Given the description of an element on the screen output the (x, y) to click on. 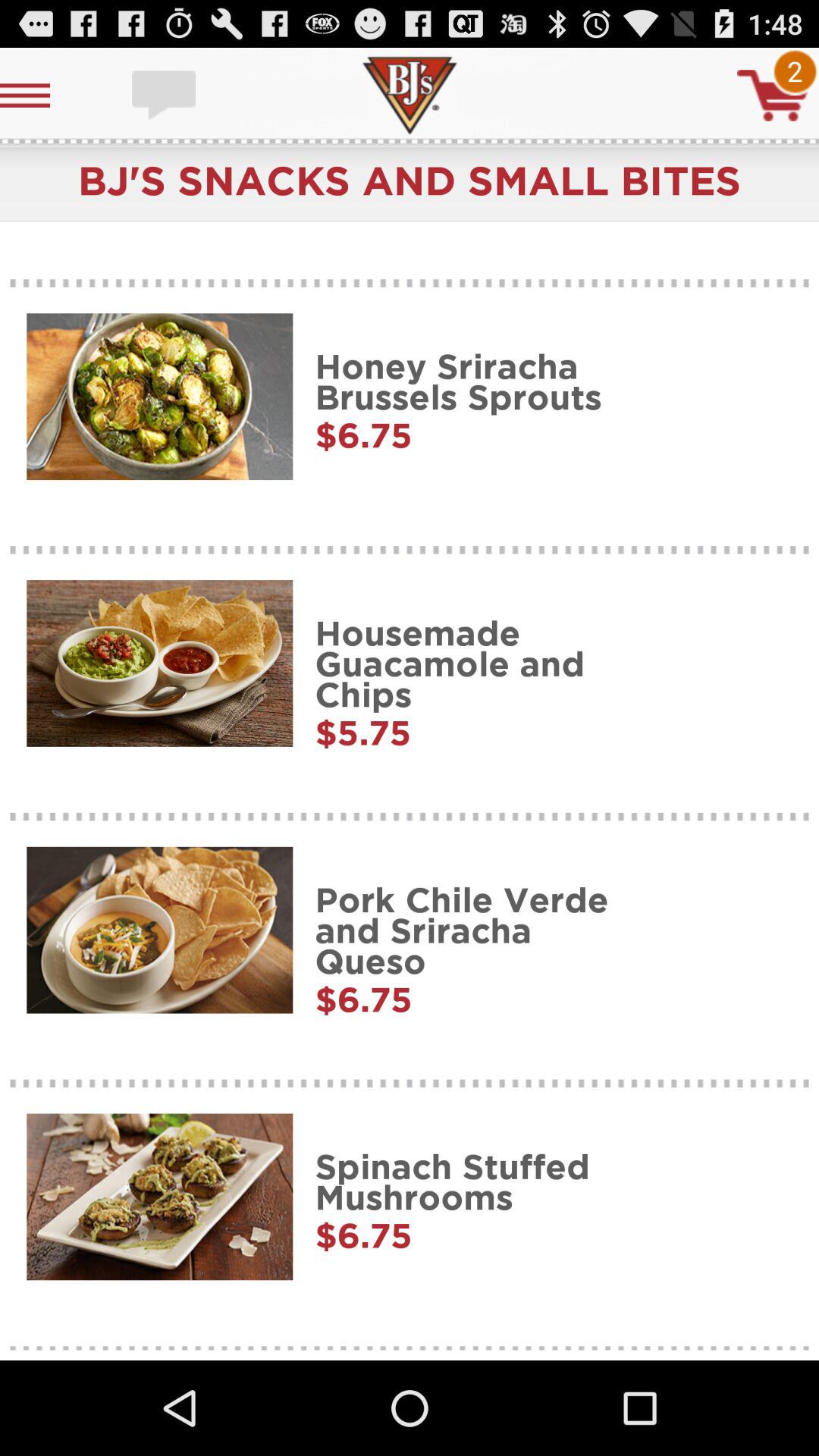
go next page (772, 95)
